Given the description of an element on the screen output the (x, y) to click on. 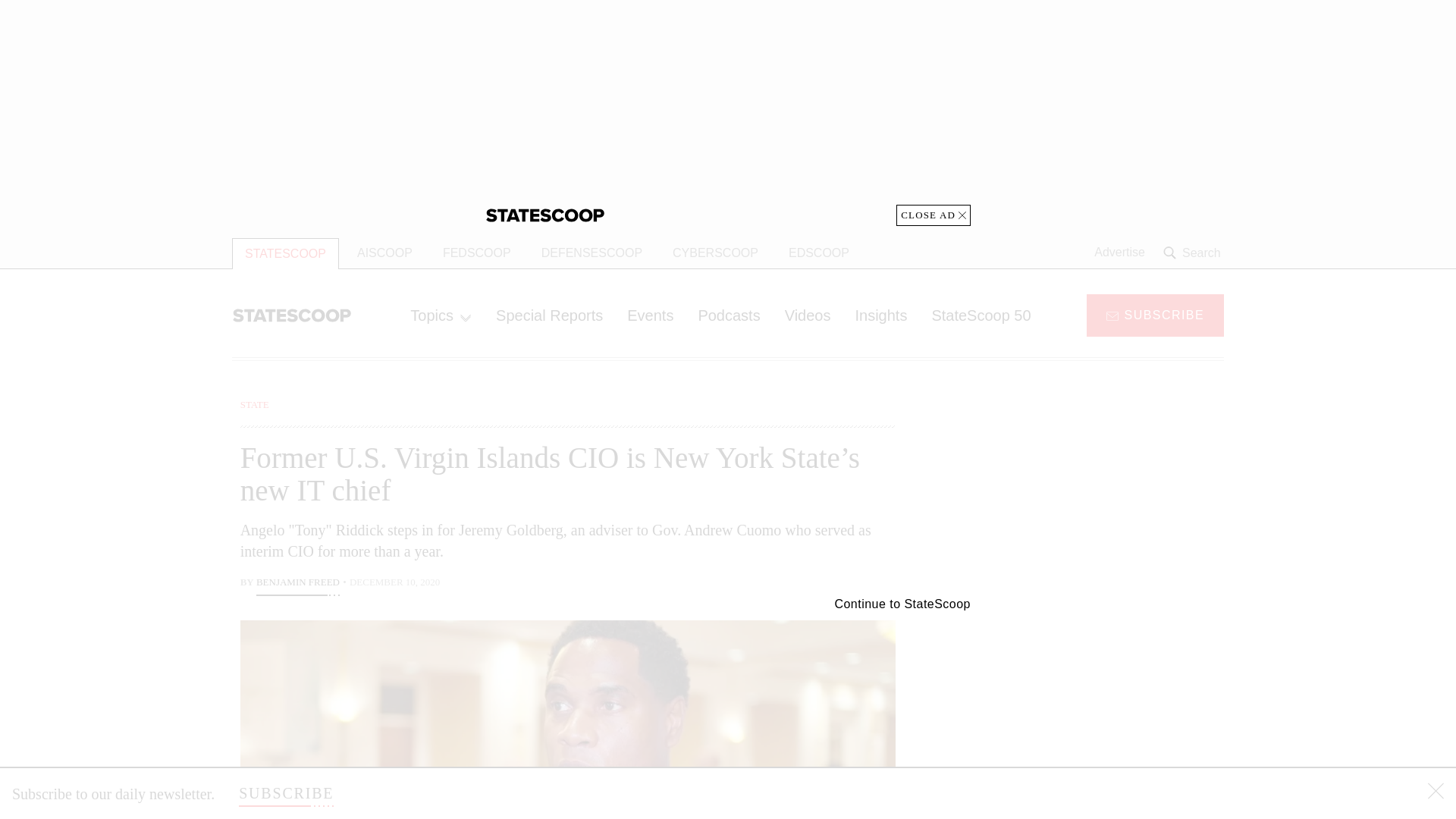
Search (1193, 252)
STATESCOOP (285, 253)
3rd party ad content (1101, 705)
StateScoop 50 (980, 315)
Special Reports (548, 315)
Insights (880, 315)
SUBSCRIBE (285, 793)
Topics (440, 315)
BENJAMIN FREED (297, 583)
